Given the description of an element on the screen output the (x, y) to click on. 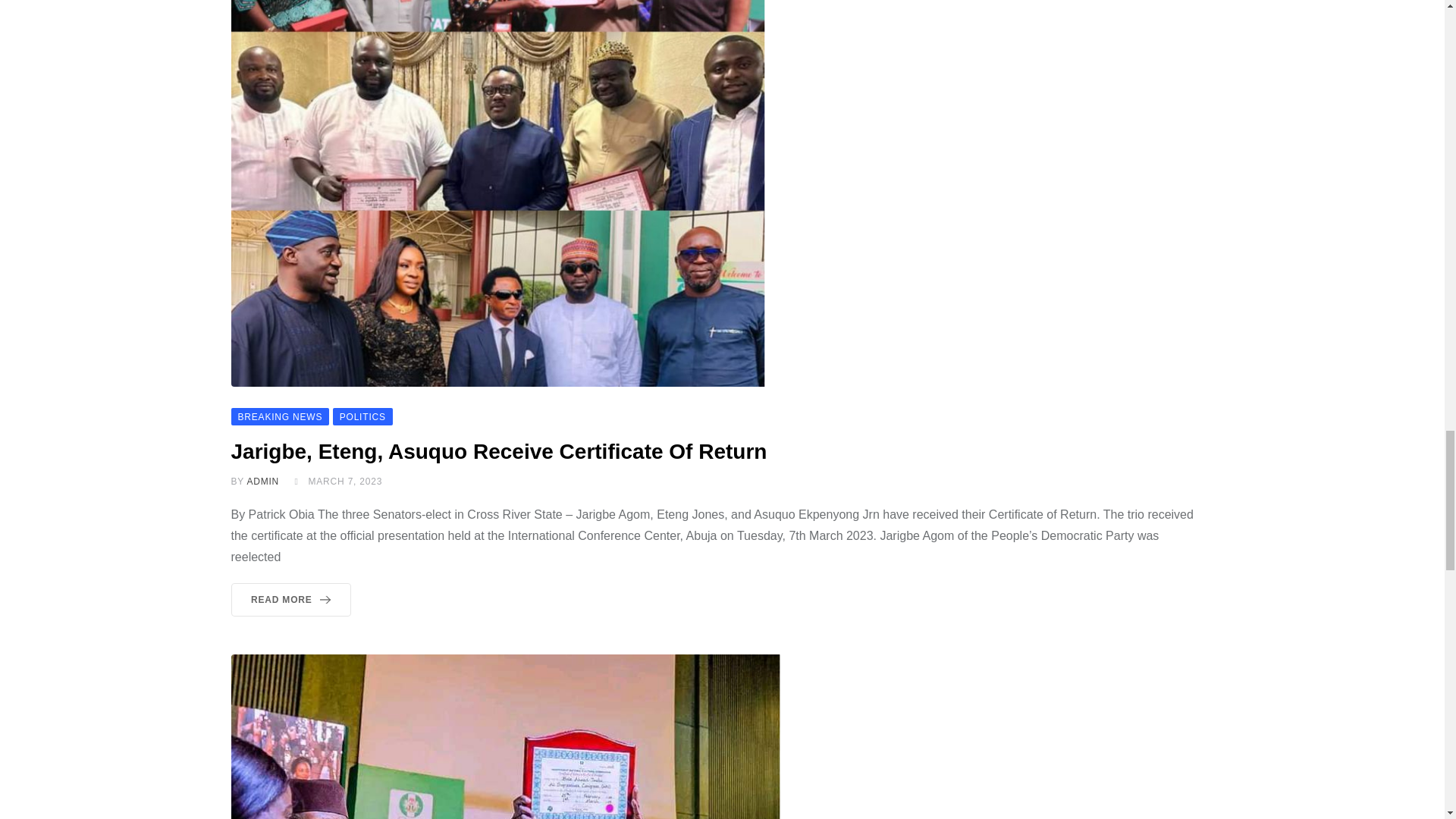
BREAKING NEWS (279, 415)
POLITICS (363, 415)
Jarigbe, Eteng, Asuquo Receive Certificate Of Return  (501, 451)
Posts by Admin (262, 480)
READ MORE (290, 599)
ADMIN (262, 480)
